Given the description of an element on the screen output the (x, y) to click on. 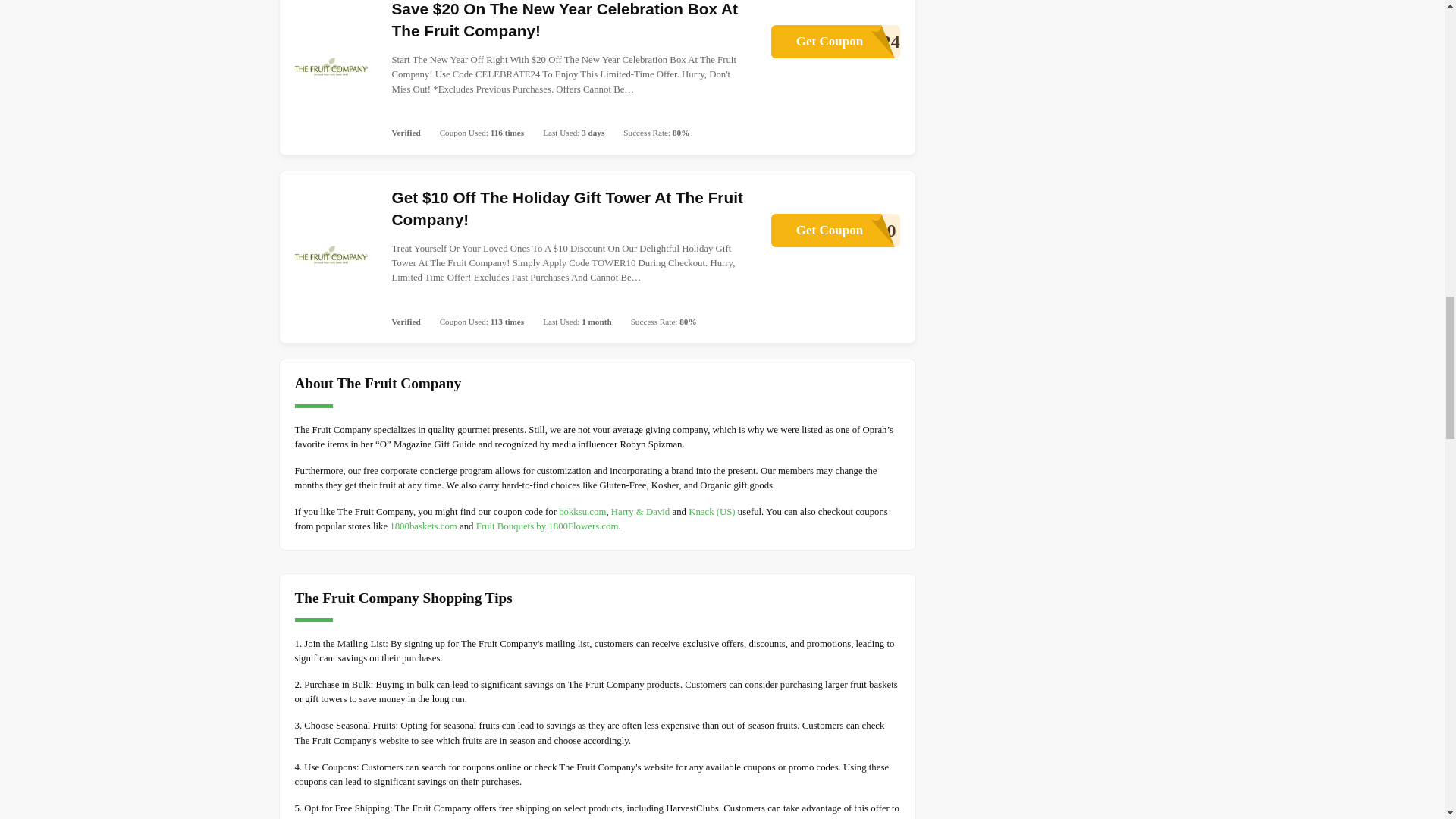
1800baskets.com (834, 41)
Fruit Bouquets by 1800Flowers.com (423, 525)
bokksu.com (834, 230)
